Given the description of an element on the screen output the (x, y) to click on. 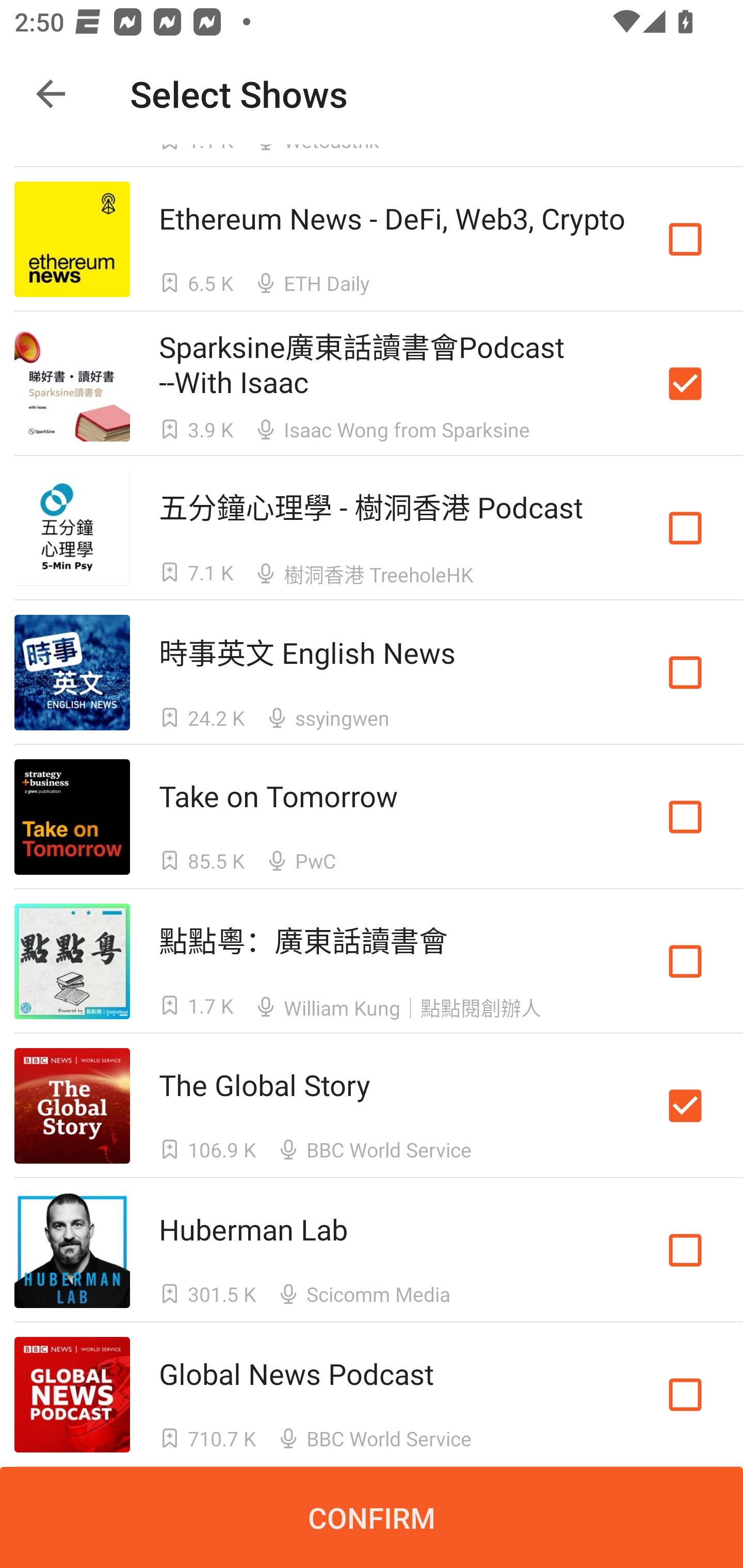
Navigate up (50, 93)
Take on Tomorrow Take on Tomorrow  85.5 K  PwC (371, 816)
CONFIRM (371, 1517)
